Given the description of an element on the screen output the (x, y) to click on. 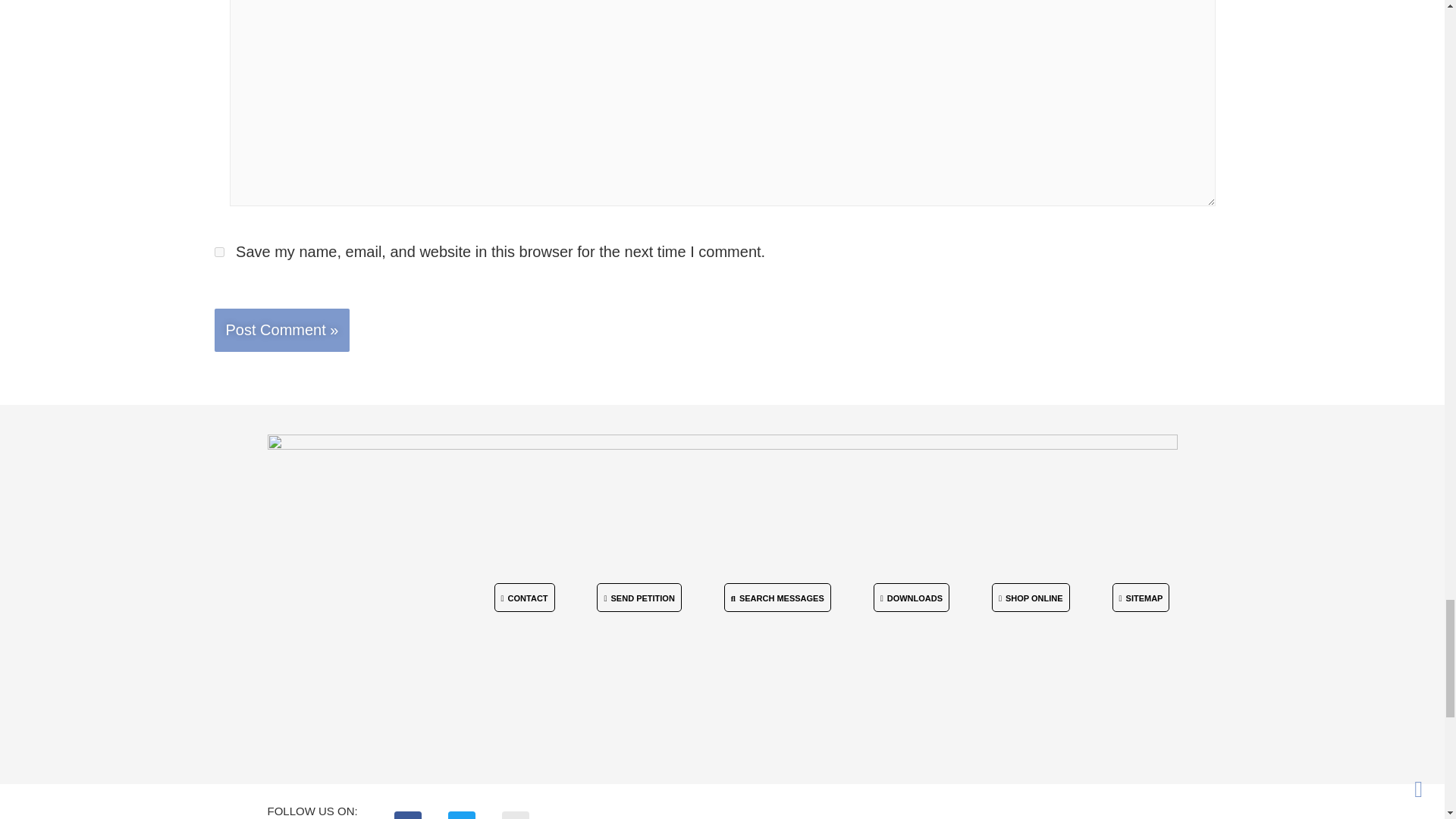
yes (219, 252)
